Given the description of an element on the screen output the (x, y) to click on. 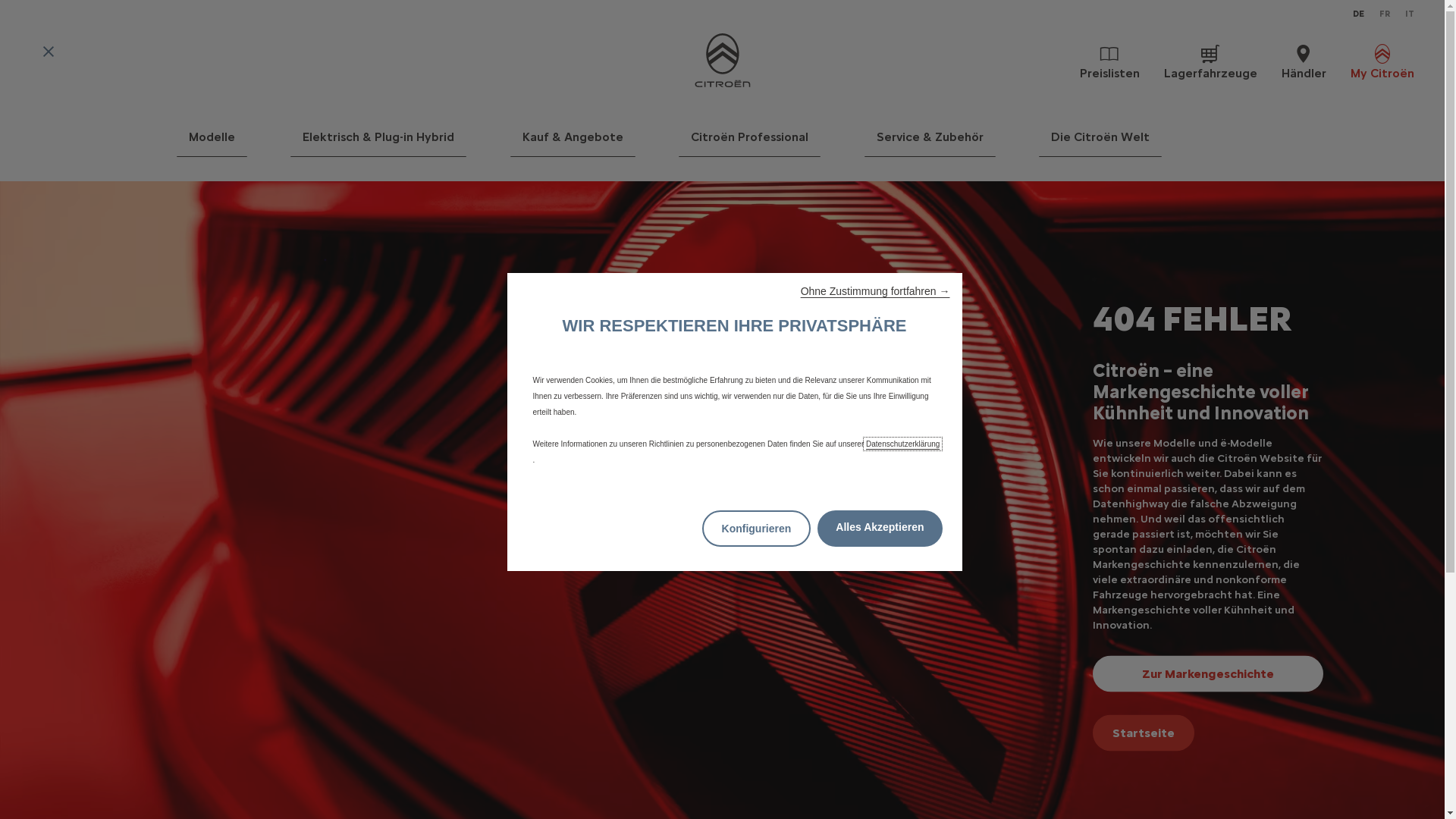
Startseite Element type: text (1143, 732)
STARTSEITE Element type: hover (721, 61)
IT Element type: text (1409, 13)
Preislisten Element type: text (1109, 60)
Lagerfahrzeuge Element type: text (1210, 60)
FR Element type: text (1384, 13)
Elektrisch & Plug-in Hybrid Element type: text (378, 142)
Kauf & Angebote Element type: text (572, 142)
Alles Akzeptieren Element type: text (879, 528)
Zur Markengeschichte Element type: text (1207, 673)
Modelle Element type: text (210, 142)
DE Element type: text (1358, 13)
Konfigurieren Element type: text (756, 528)
